Given the description of an element on the screen output the (x, y) to click on. 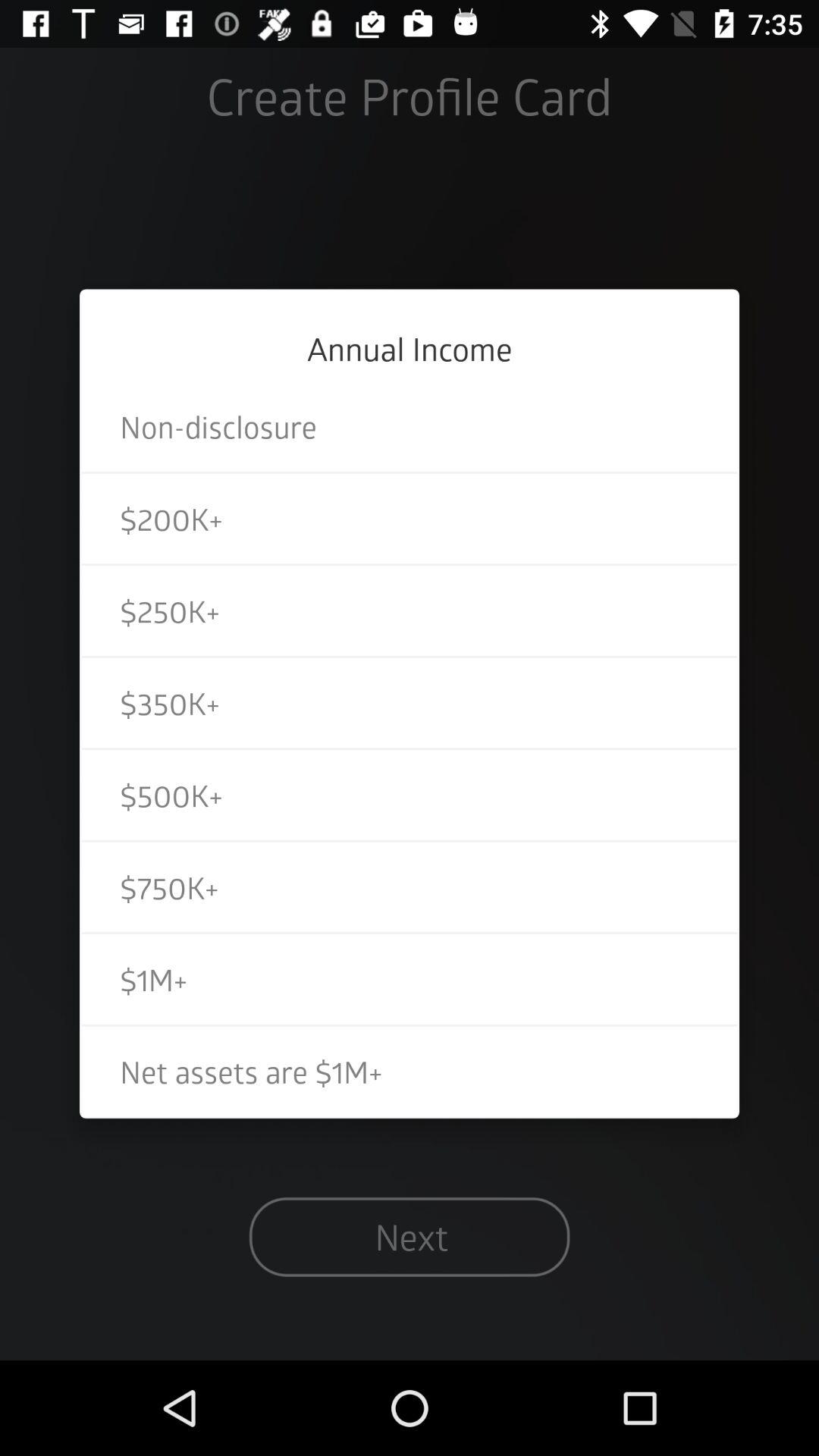
launch the item below $350k+ (409, 795)
